Given the description of an element on the screen output the (x, y) to click on. 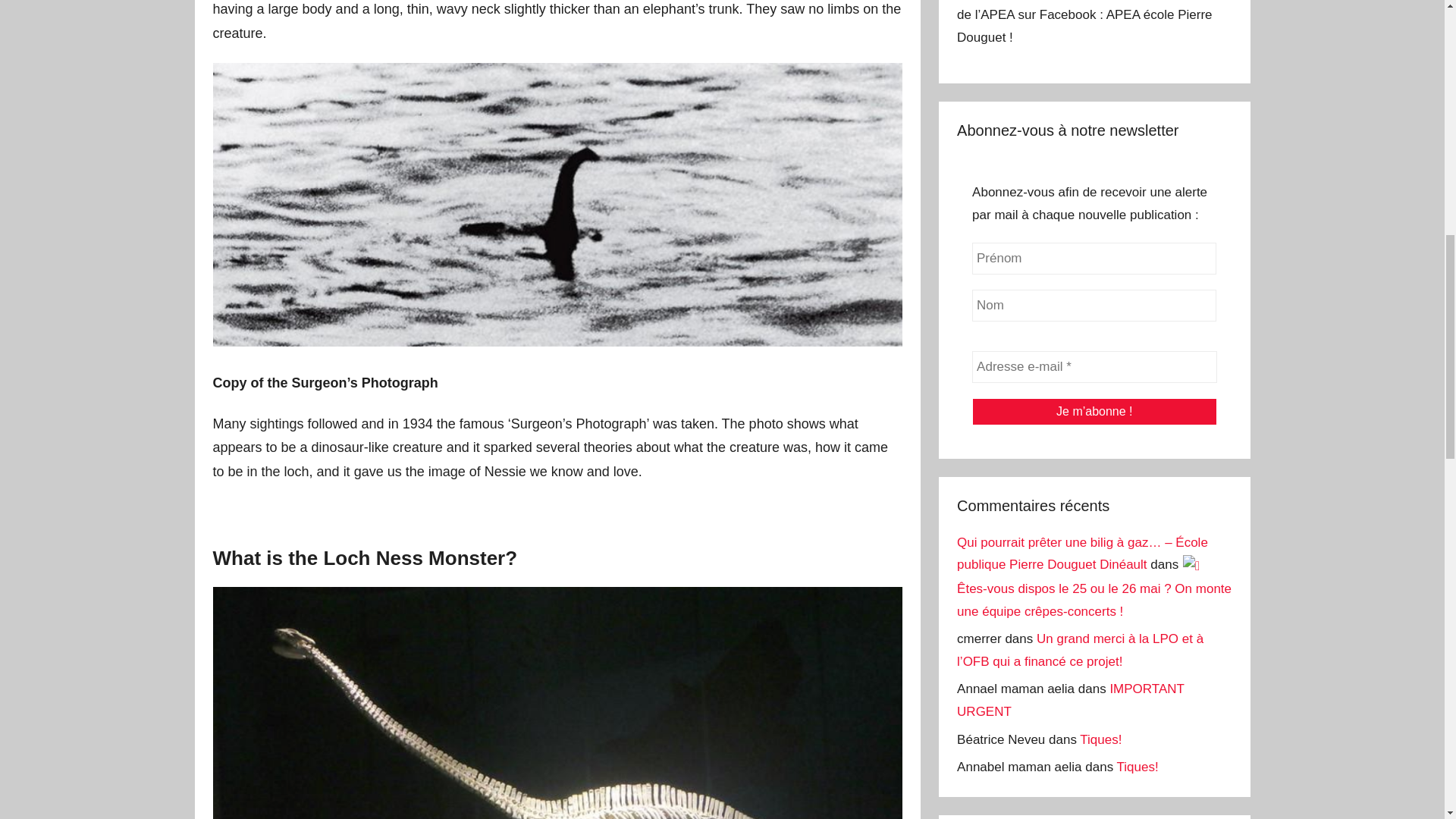
Nom (1093, 305)
Adresse e-mail (1093, 367)
Tiques! (1137, 766)
Tiques! (1100, 739)
IMPORTANT URGENT (1070, 700)
